Given the description of an element on the screen output the (x, y) to click on. 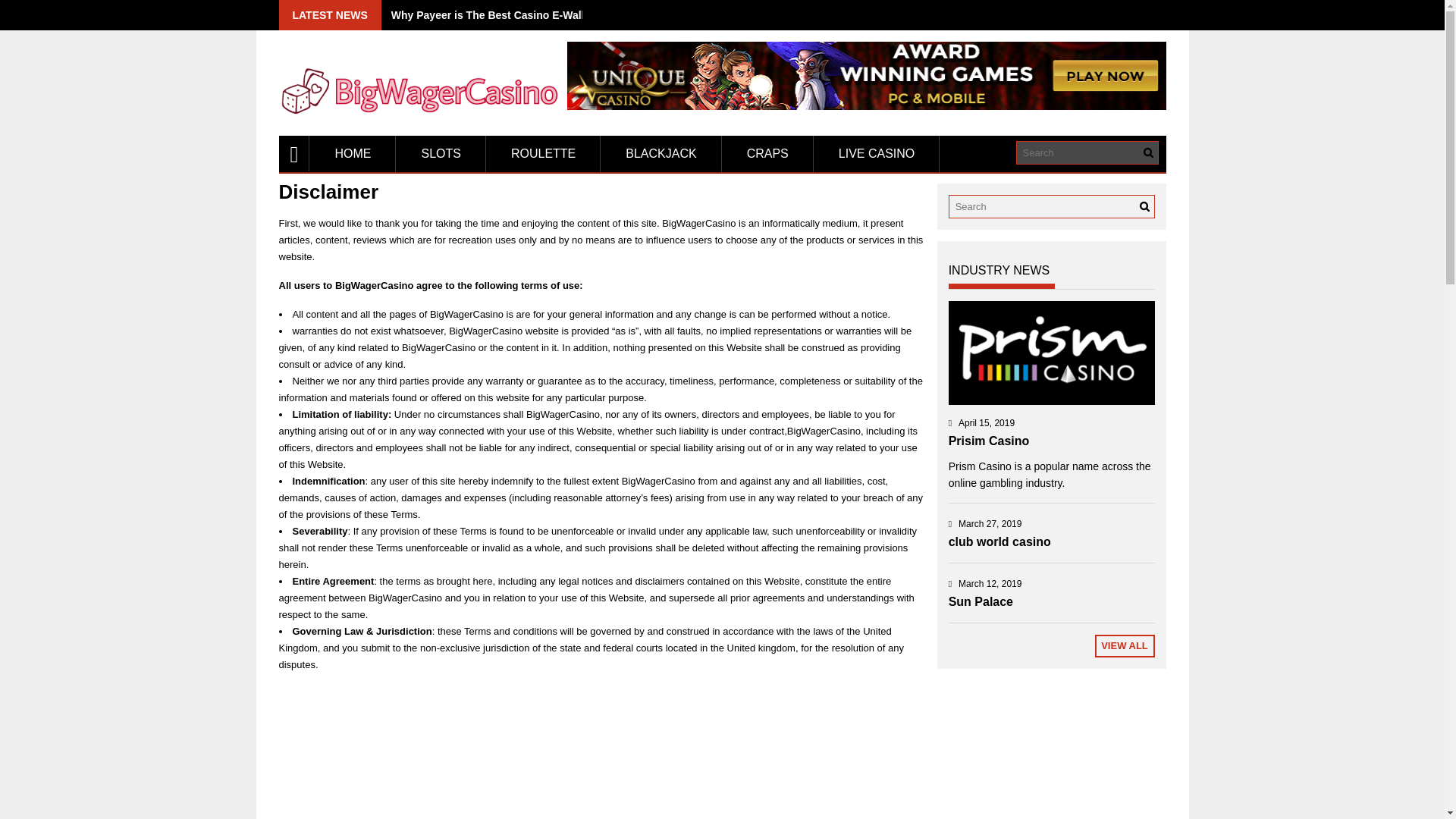
Prisim Casino (989, 440)
BLACKJACK (659, 153)
club world casino (1000, 541)
HOME (352, 153)
View All (1124, 645)
Why Payeer is The Best Casino E-Wallet (492, 15)
Sun Palace (981, 601)
Prisim Casino (989, 440)
Prisim Casino (1051, 352)
VIEW ALL (1124, 645)
